Given the description of an element on the screen output the (x, y) to click on. 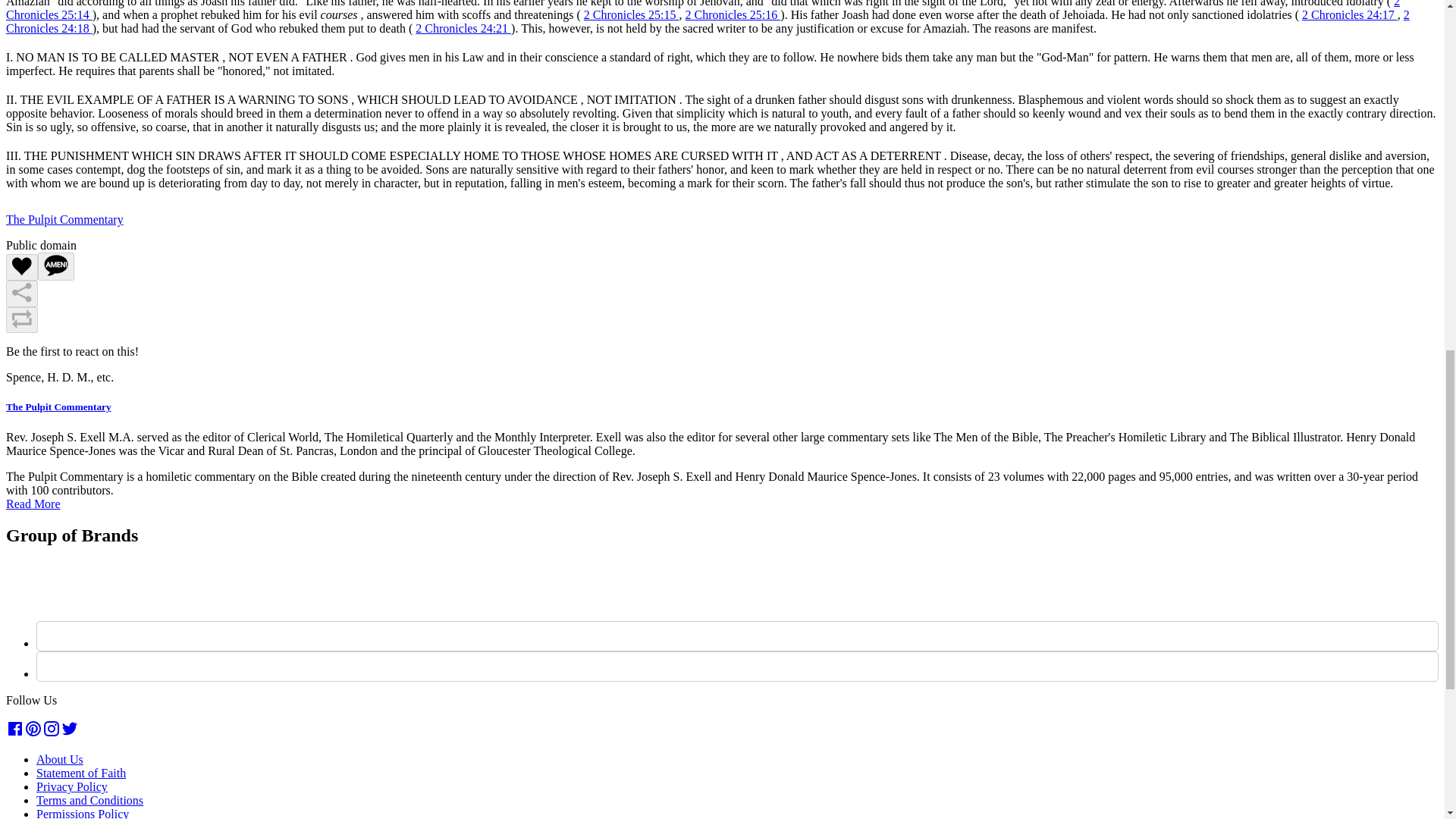
Bible Passages -  2 Chronicles 24:21  - click to view detail (462, 28)
Bible Passages -  2 Chronicles 25:16  - click to view detail (732, 14)
Repost (21, 320)
Community (74, 9)
Bible Passages -  2 Chronicles 25:15  - click to view detail (631, 14)
Share (21, 293)
Store (57, 29)
Like (21, 266)
Bible Passages -  2 Chronicles 24:18  - click to view detail (707, 21)
Amen (55, 266)
Bible Passages -  2 Chronicles 25:14  - click to view detail (702, 10)
Bible Passages -  2 Chronicles 24:17  - click to view detail (1349, 14)
